Given the description of an element on the screen output the (x, y) to click on. 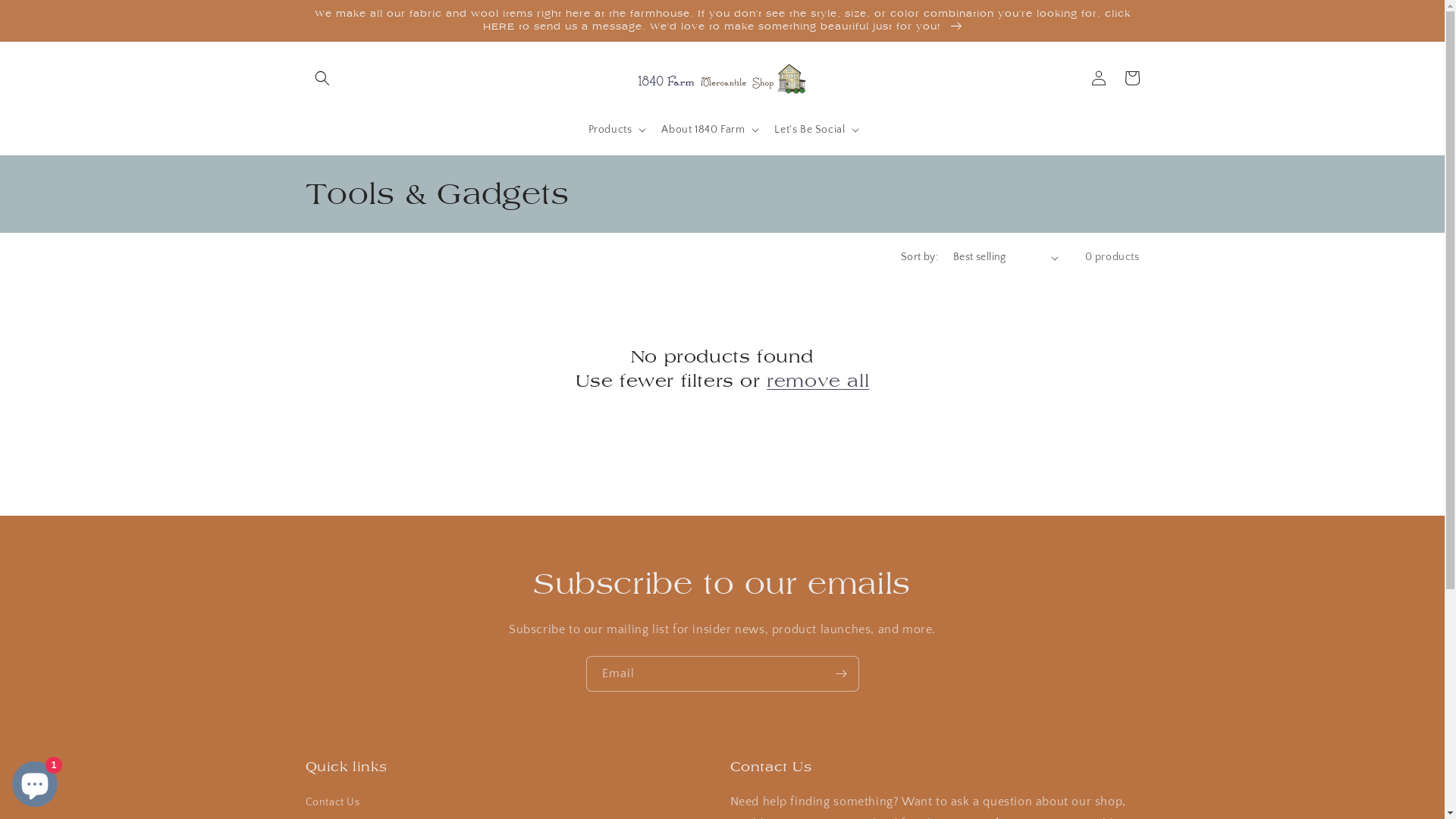
remove all Element type: text (817, 380)
Log in Element type: text (1097, 77)
Cart Element type: text (1131, 77)
Contact Us Element type: text (331, 804)
Shopify online store chat Element type: hover (34, 780)
